Given the description of an element on the screen output the (x, y) to click on. 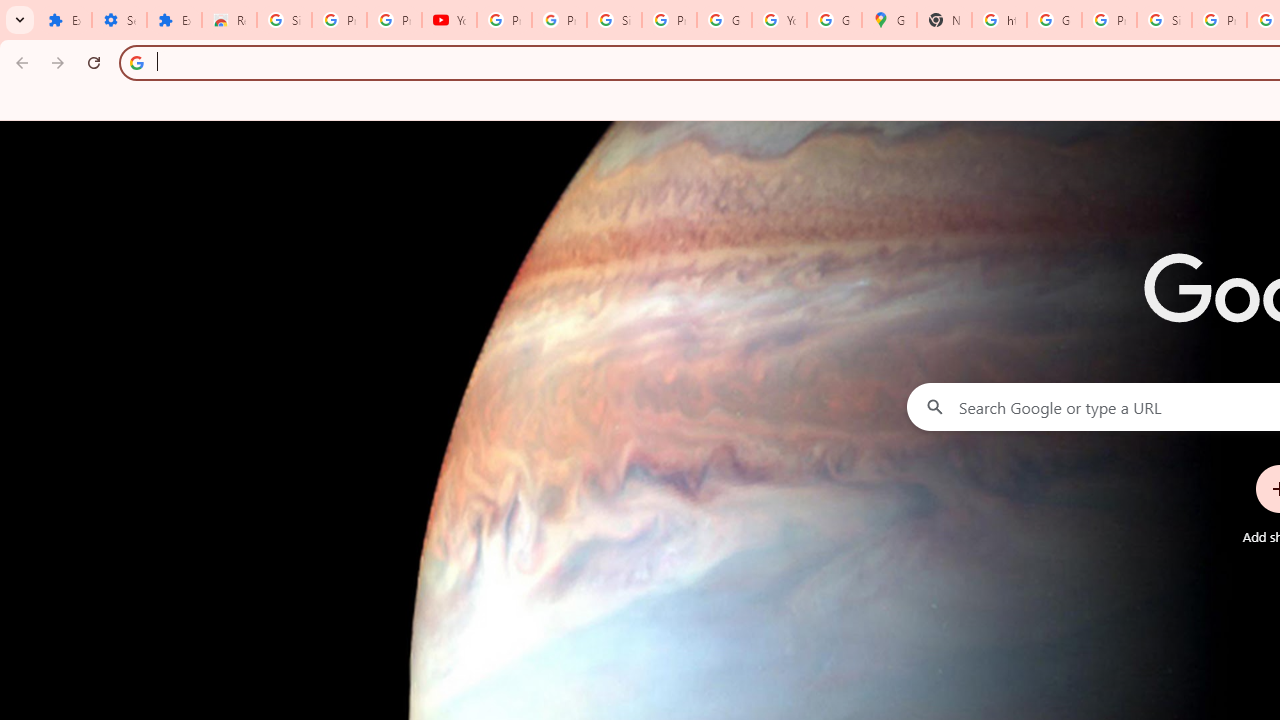
Settings (119, 20)
Sign in - Google Accounts (1163, 20)
YouTube (449, 20)
Extensions (174, 20)
https://scholar.google.com/ (998, 20)
Sign in - Google Accounts (284, 20)
Sign in - Google Accounts (614, 20)
